Given the description of an element on the screen output the (x, y) to click on. 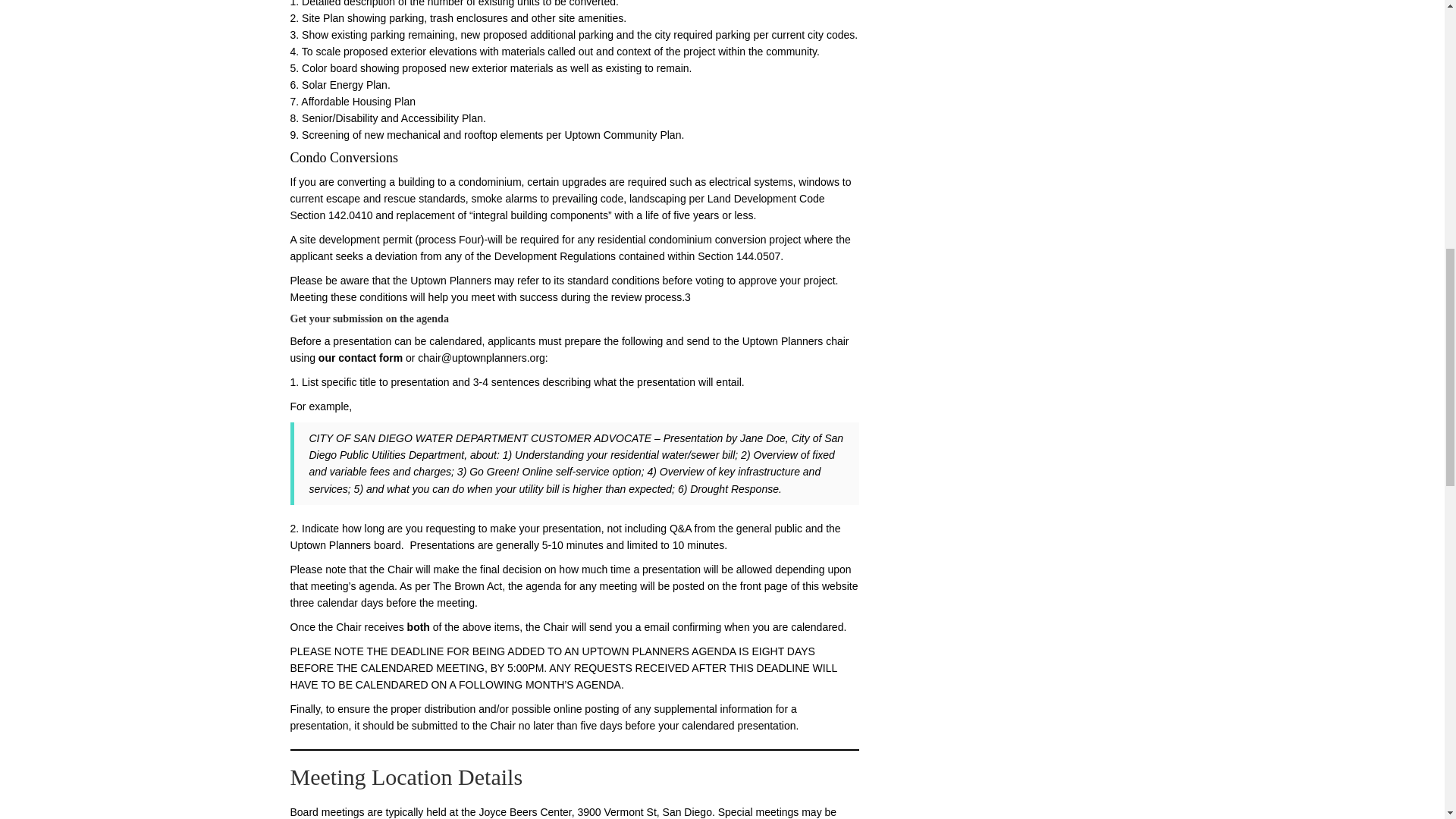
Condo Conversions (343, 157)
standard conditions (613, 280)
our contact form (360, 357)
Joyce Beers Center (525, 811)
